Given the description of an element on the screen output the (x, y) to click on. 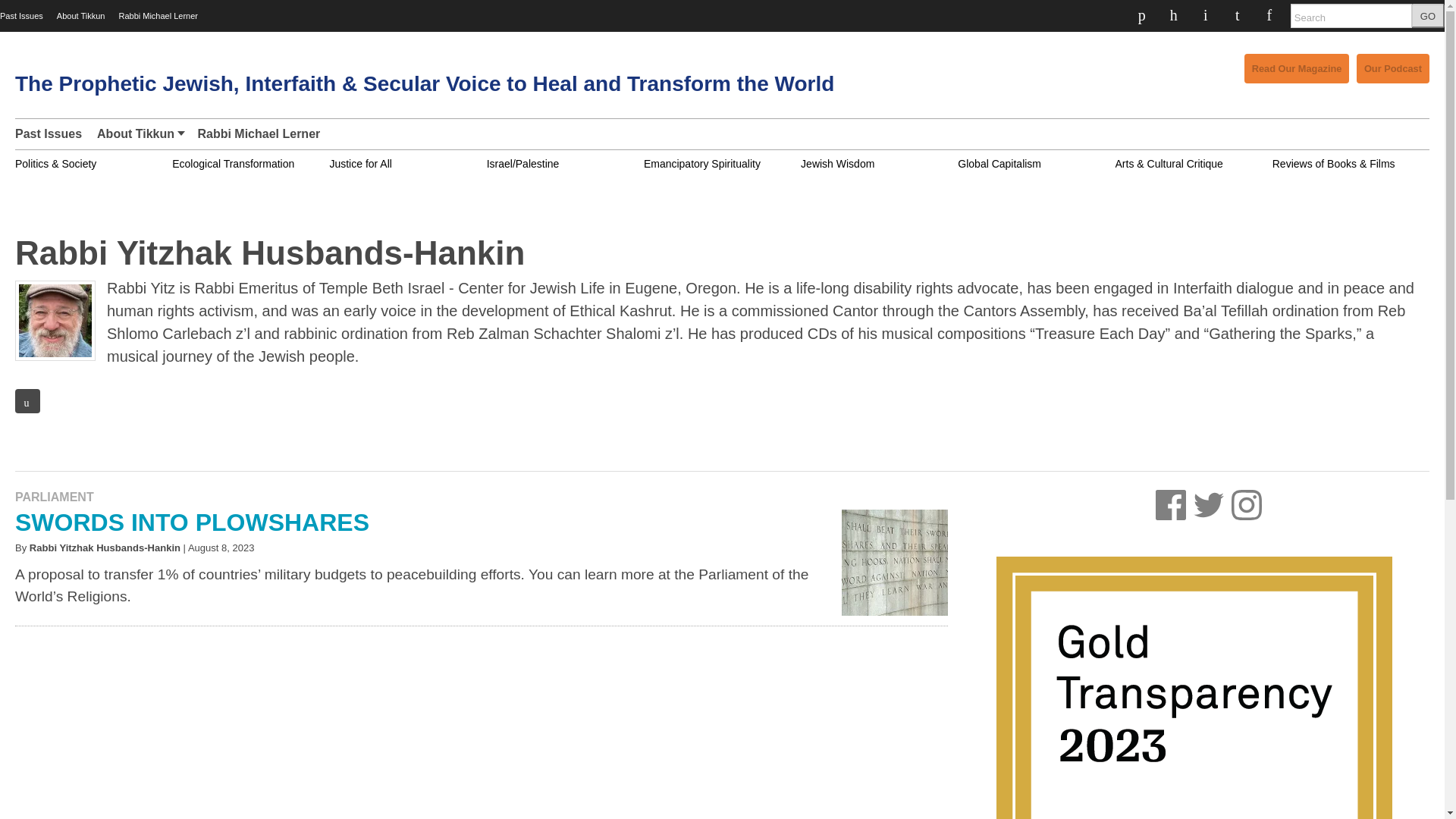
facebook (1174, 503)
About Tikkun (138, 133)
Link to Facebook Profile (1143, 14)
Rabbi Michael Lerner (258, 133)
Past Issues (51, 133)
Rabbi Michael Lerner (157, 15)
e-mail Rabbi Yitzhak Husbands-Hankin (27, 401)
Read Our Magazine (1296, 68)
Read Our Magazine (1294, 67)
Ecological Transformation (232, 163)
